Given the description of an element on the screen output the (x, y) to click on. 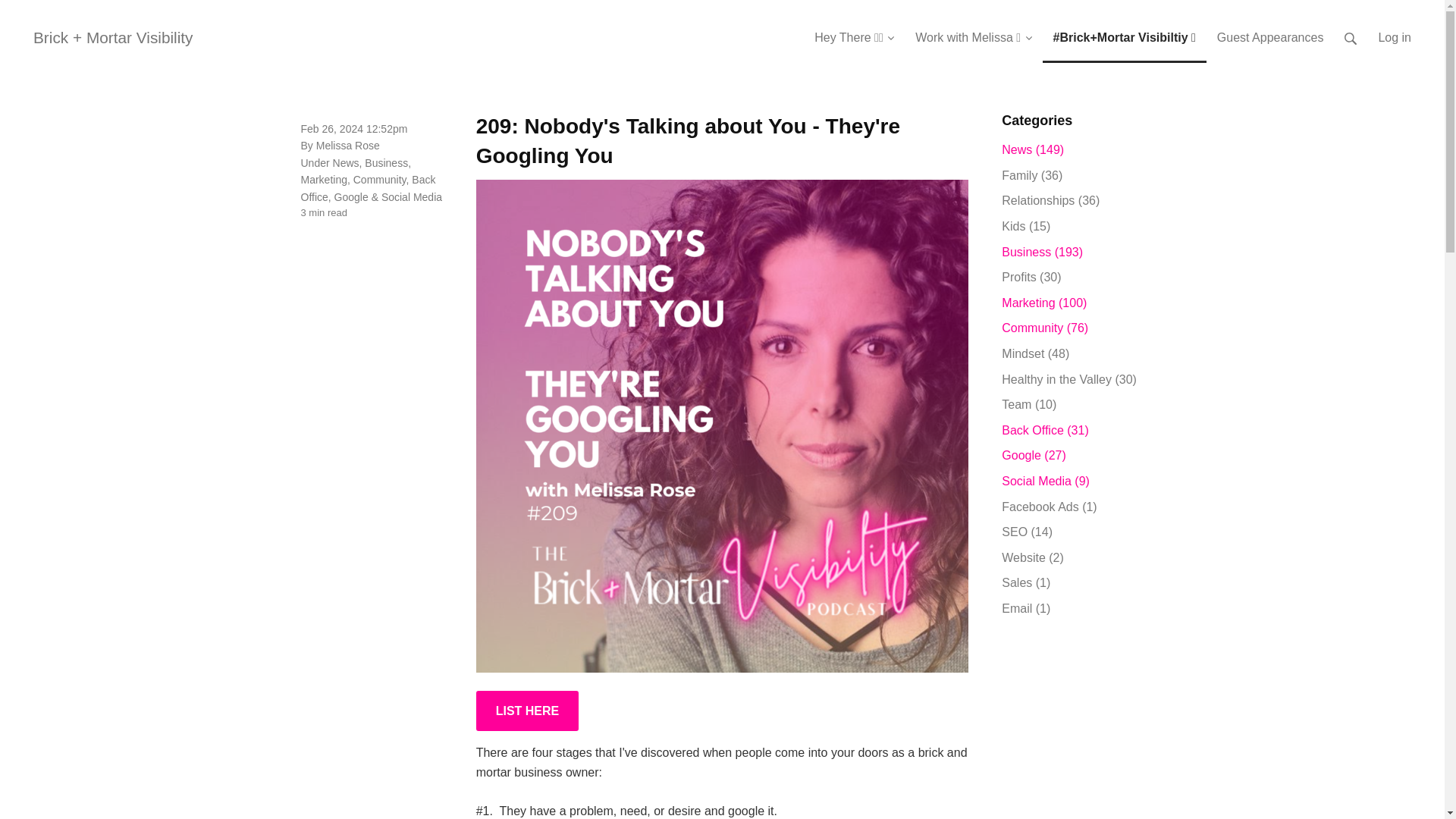
Marketing (322, 179)
Guest Appearances (1271, 31)
Business (386, 162)
News (346, 162)
Google (351, 196)
Back Office (367, 187)
Community (379, 179)
LIST HERE (527, 711)
Social Media (411, 196)
